Given the description of an element on the screen output the (x, y) to click on. 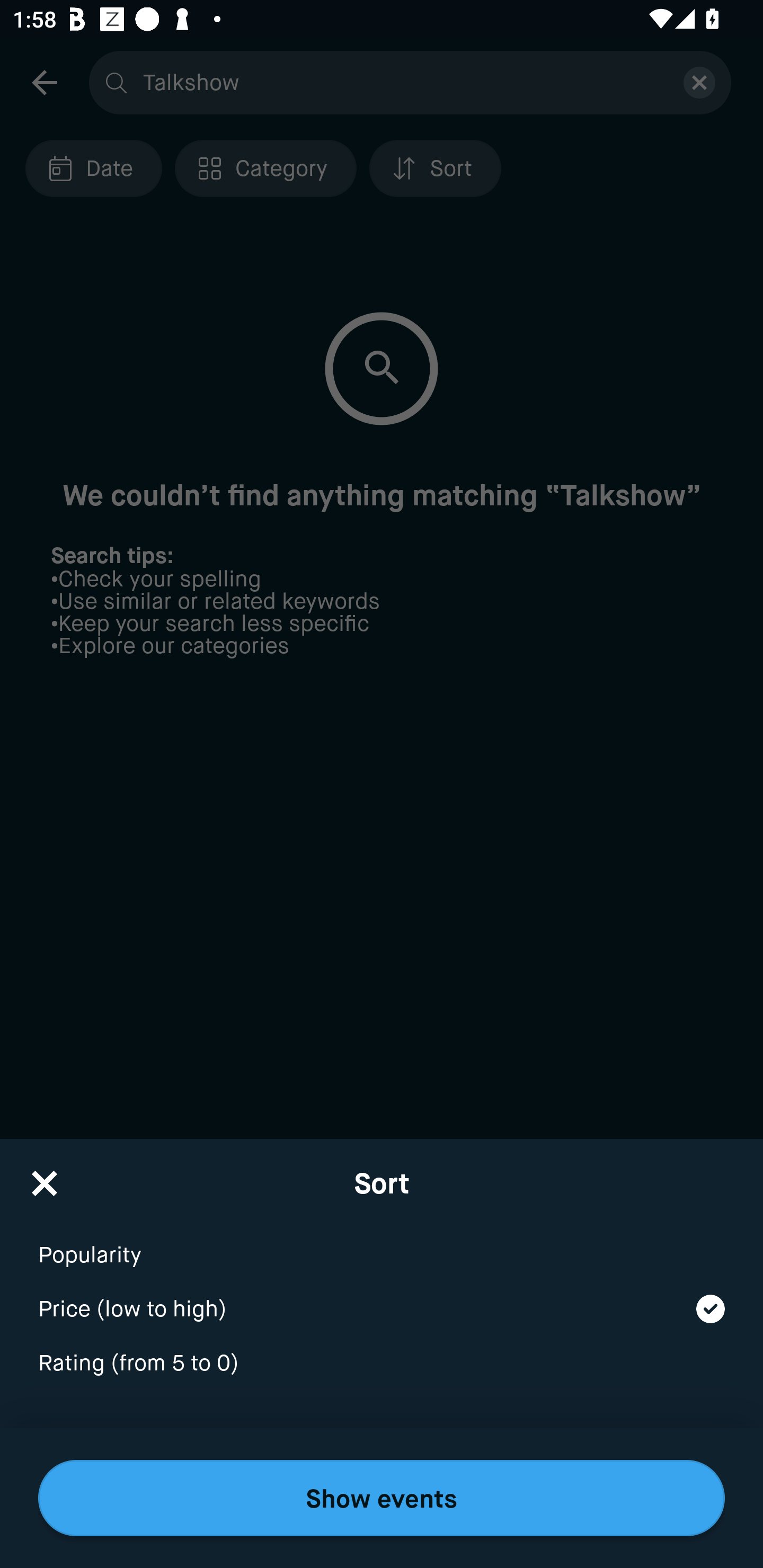
CloseButton (44, 1177)
Popularity (381, 1243)
Price (low to high) Selected Icon (381, 1297)
Rating (from 5 to 0) (381, 1362)
Show events (381, 1497)
